Given the description of an element on the screen output the (x, y) to click on. 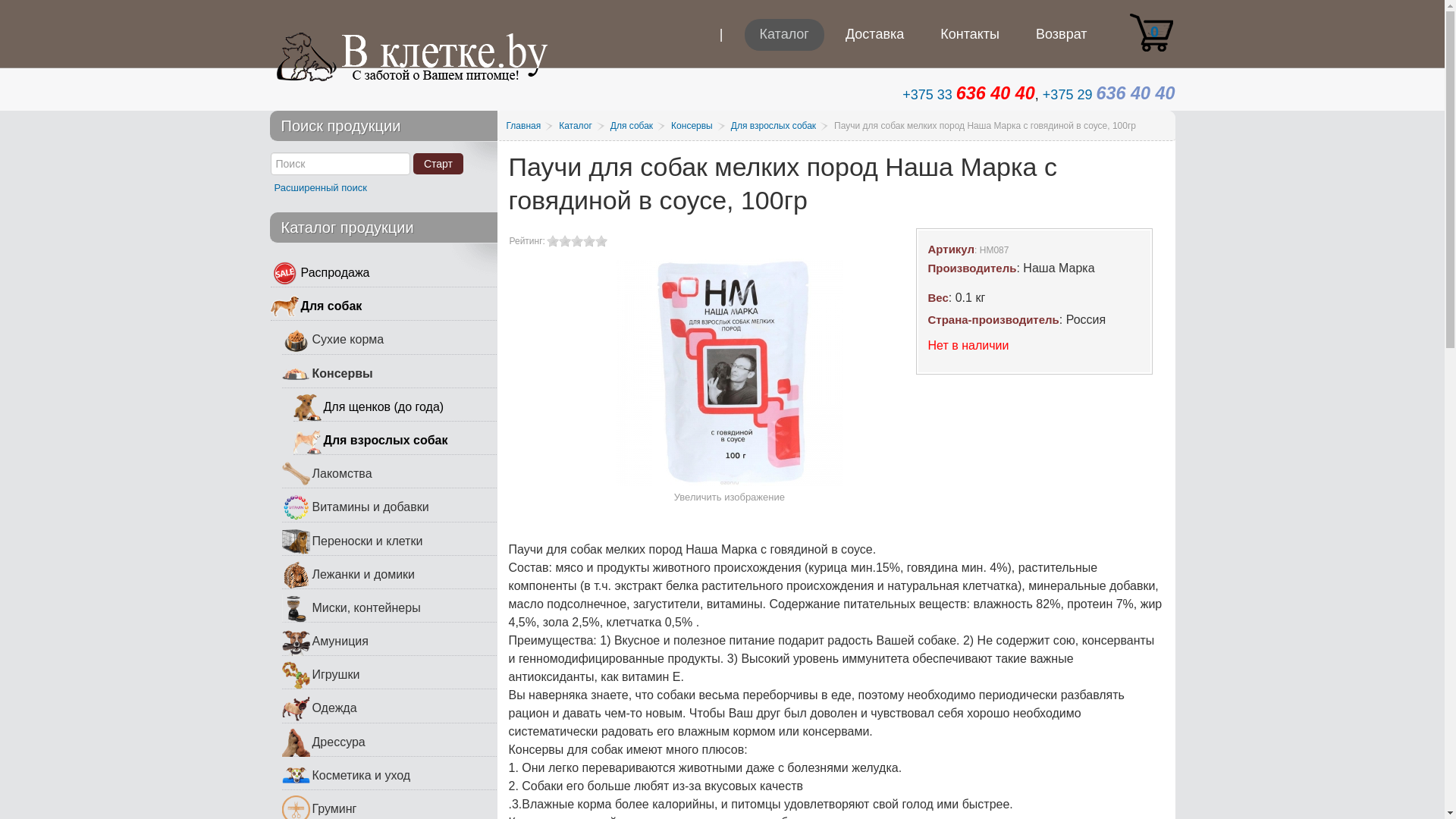
0 Element type: text (1150, 32)
+375 33 636 40 40 Element type: text (968, 94)
+375 29 636 40 40 Element type: text (1108, 94)
| Element type: text (721, 45)
